Given the description of an element on the screen output the (x, y) to click on. 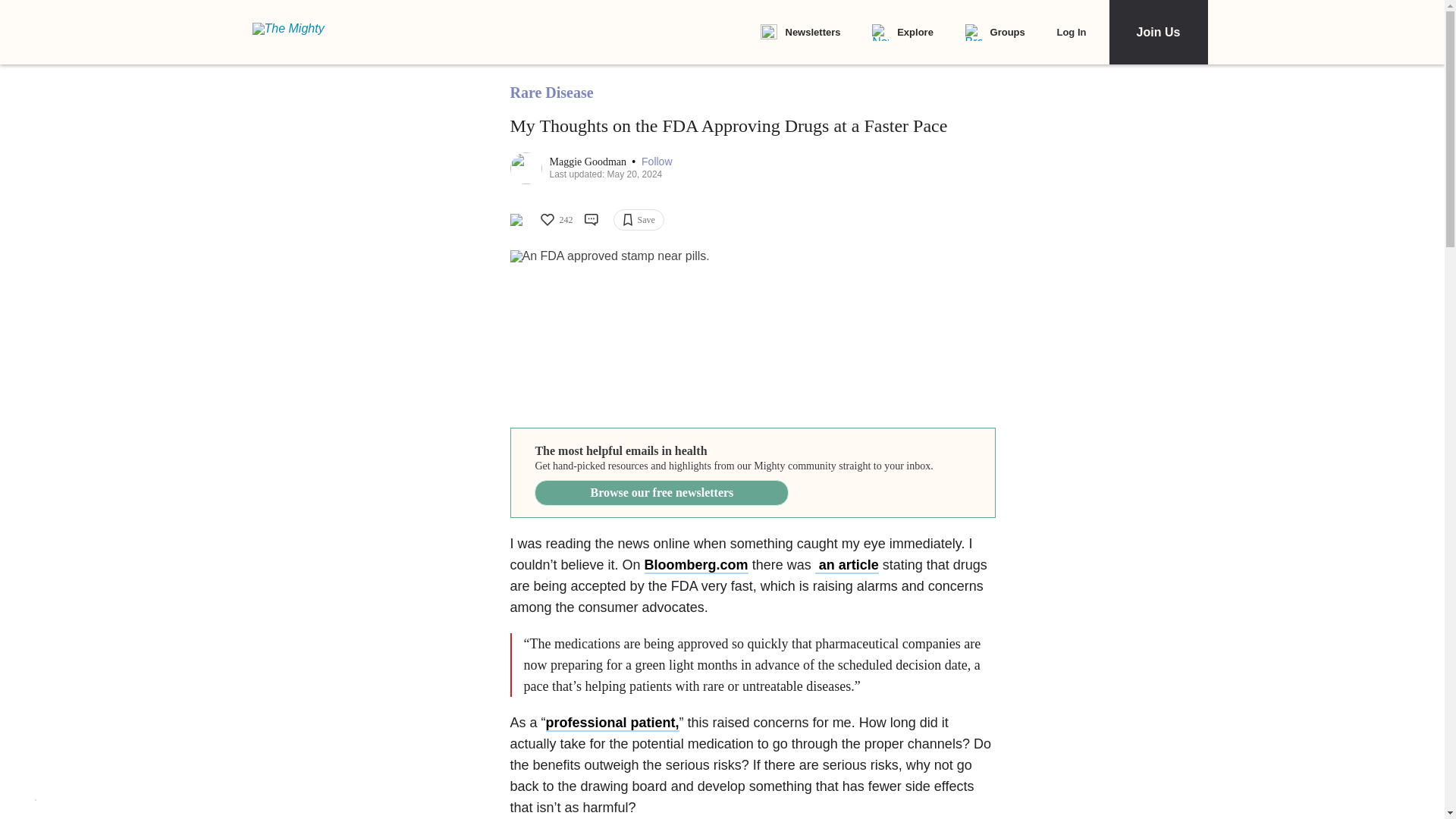
Join Us (1157, 32)
Maggie Goodman (588, 161)
Explore (902, 32)
Save (637, 219)
The Mighty (296, 32)
Groups (995, 32)
Rare Disease (550, 92)
Browse our free newsletters (661, 492)
 an article (847, 565)
Follow (656, 161)
242 (555, 219)
Bloomberg.com (696, 565)
Newsletters (800, 32)
professional patient, (612, 723)
How I Feel About the FDA Approving Drugs at a Faster Pace (751, 331)
